Given the description of an element on the screen output the (x, y) to click on. 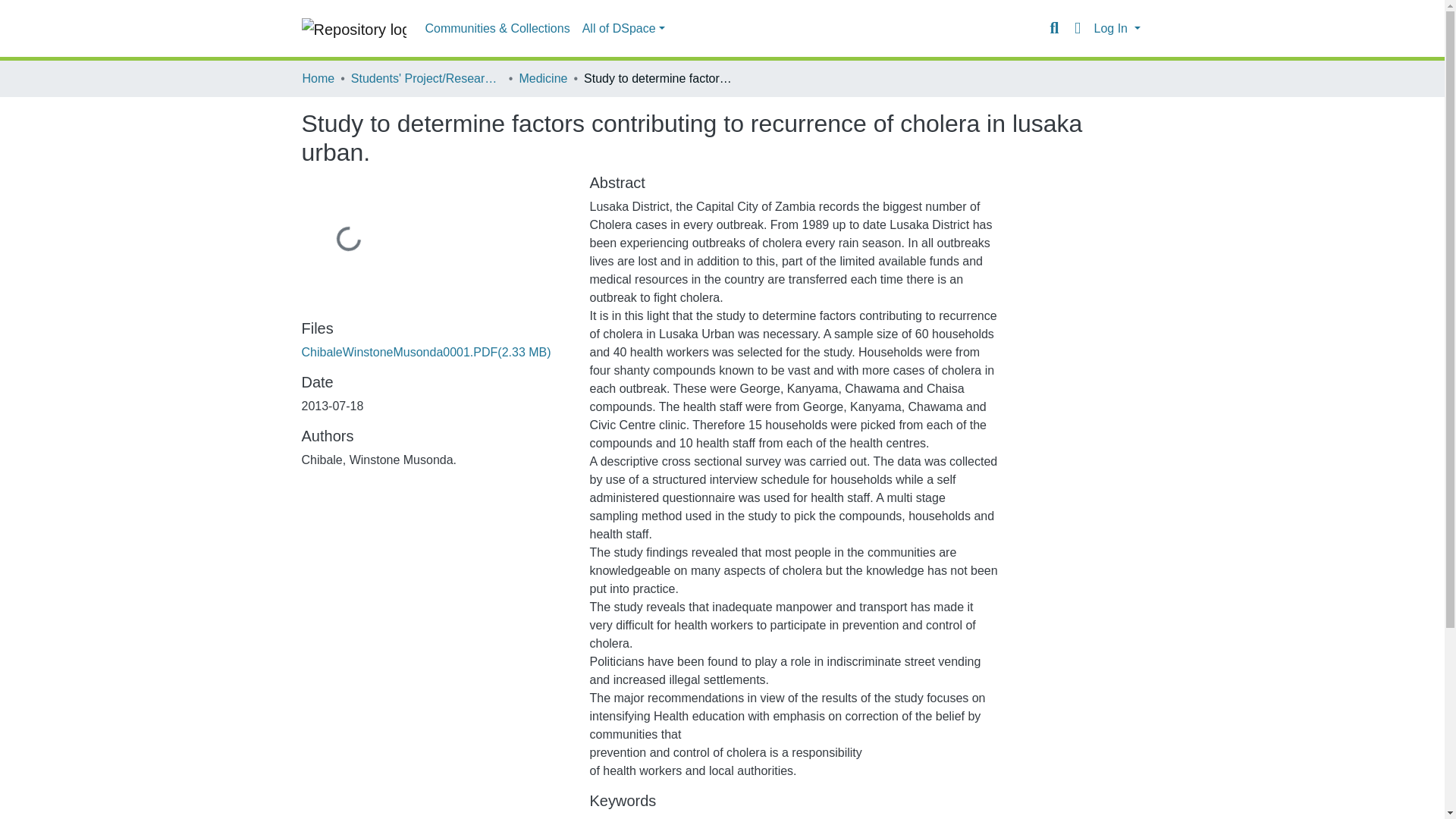
Home (317, 78)
Language switch (1077, 28)
Search (1053, 28)
Medicine (542, 78)
All of DSpace (623, 28)
Log In (1116, 28)
